Given the description of an element on the screen output the (x, y) to click on. 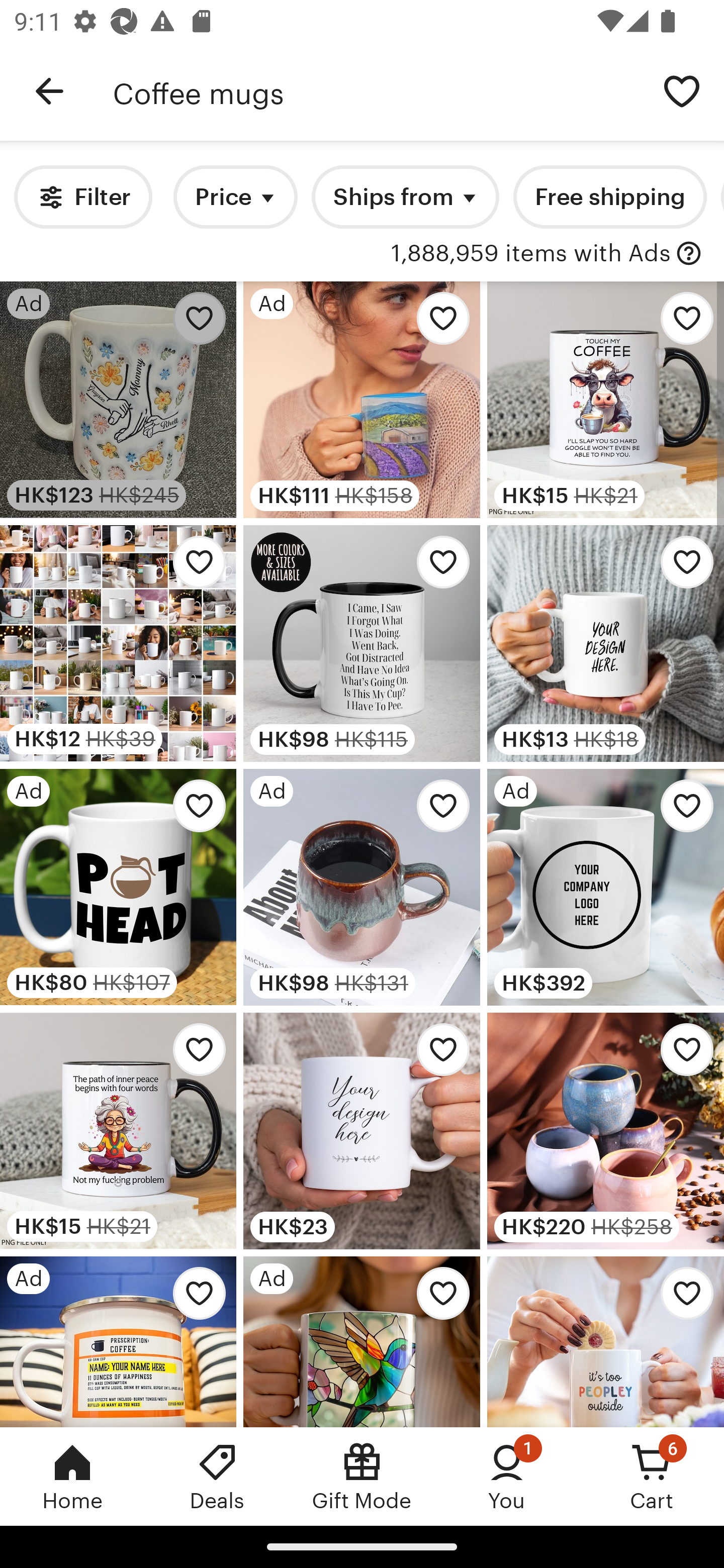
Navigate up (49, 91)
Save search (681, 90)
Coffee mugs (375, 91)
Filter (82, 197)
Price (235, 197)
Ships from (405, 197)
Free shipping (609, 197)
1,888,959 items with Ads (530, 253)
with Ads (688, 253)
Deals (216, 1475)
Gift Mode (361, 1475)
You, 1 new notification You (506, 1475)
Cart, 6 new notifications Cart (651, 1475)
